Given the description of an element on the screen output the (x, y) to click on. 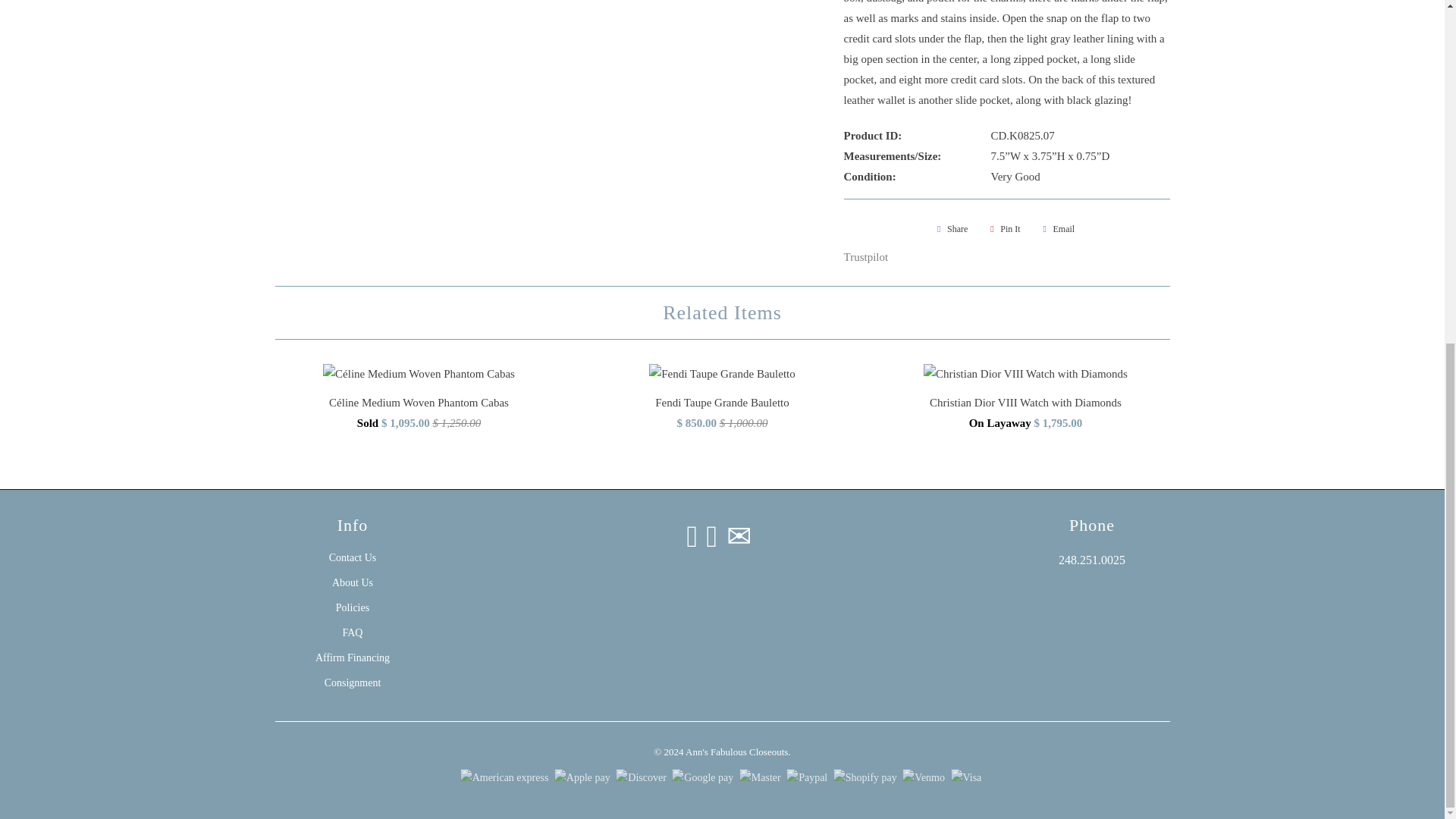
Share this on Pinterest (1003, 228)
Share this on Facebook (950, 228)
